Given the description of an element on the screen output the (x, y) to click on. 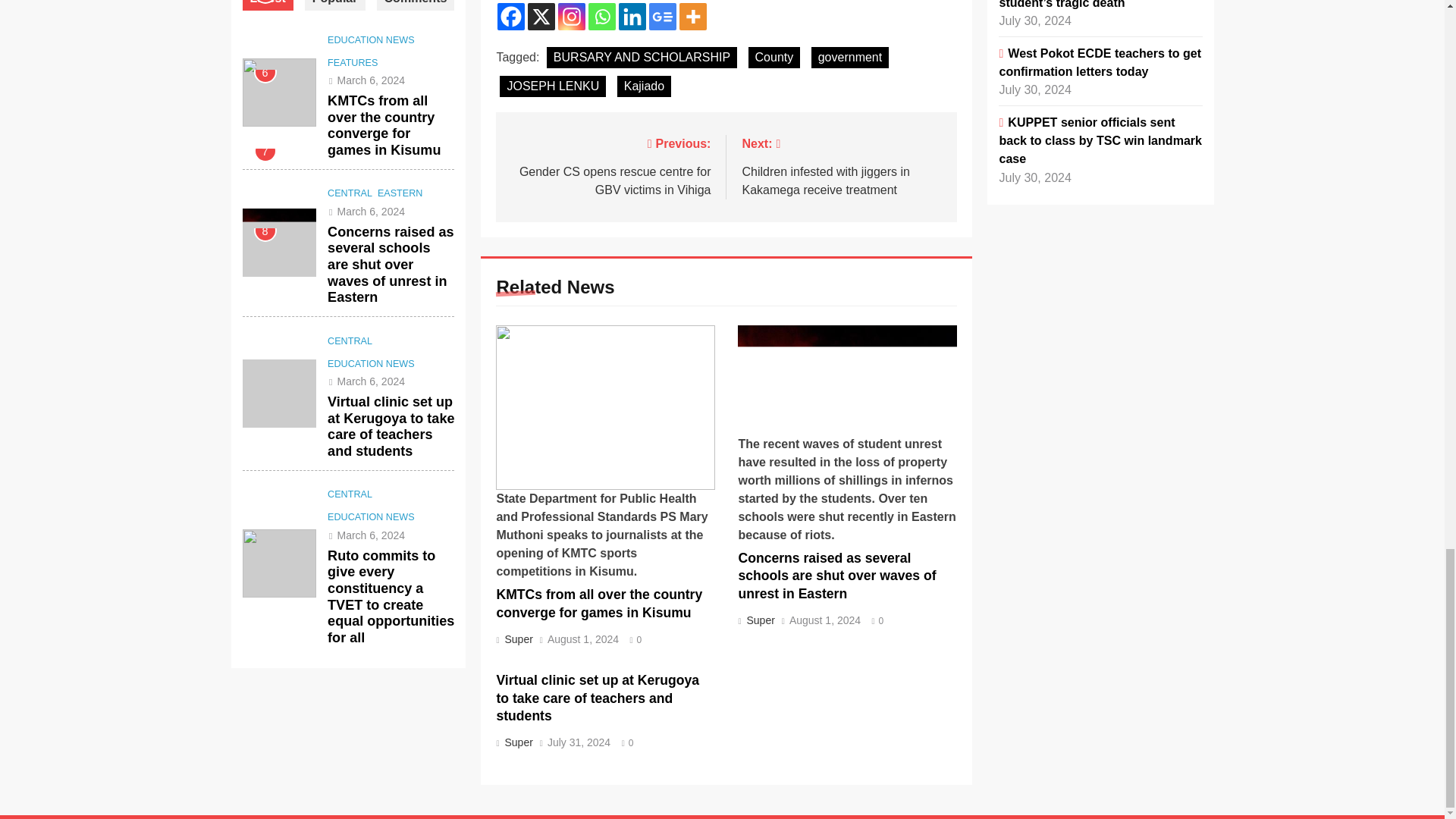
Whatsapp (601, 16)
X (540, 16)
Google News (663, 16)
More (692, 16)
Linkedin (632, 16)
Facebook (510, 16)
Instagram (571, 16)
